Given the description of an element on the screen output the (x, y) to click on. 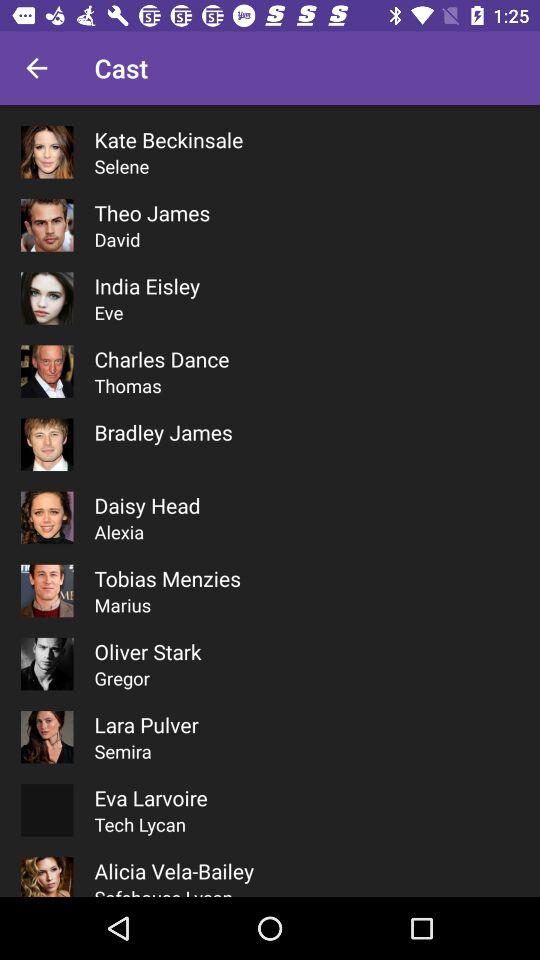
launch the item below daisy head item (119, 531)
